Given the description of an element on the screen output the (x, y) to click on. 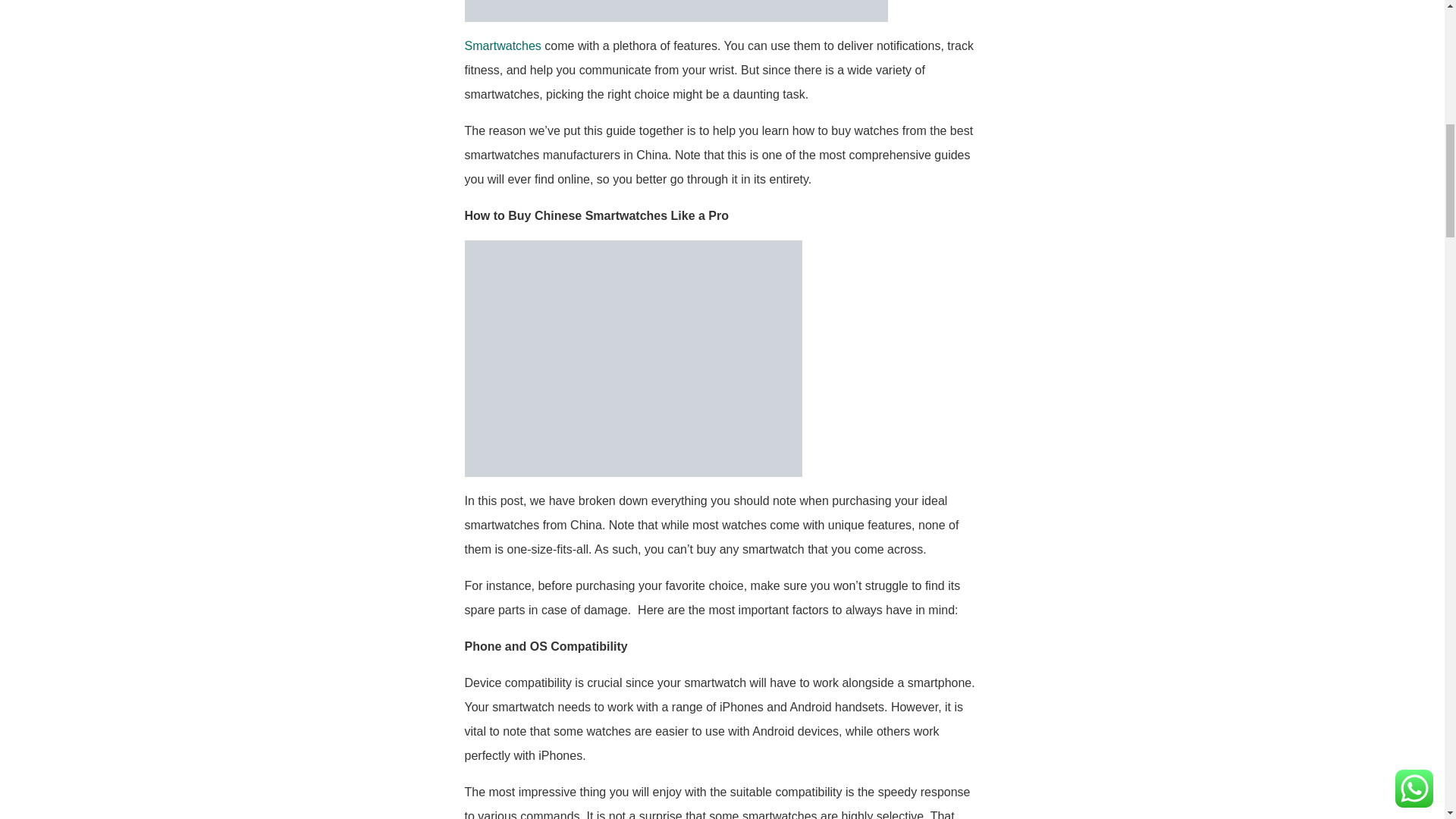
Smartwatches (502, 45)
